Given the description of an element on the screen output the (x, y) to click on. 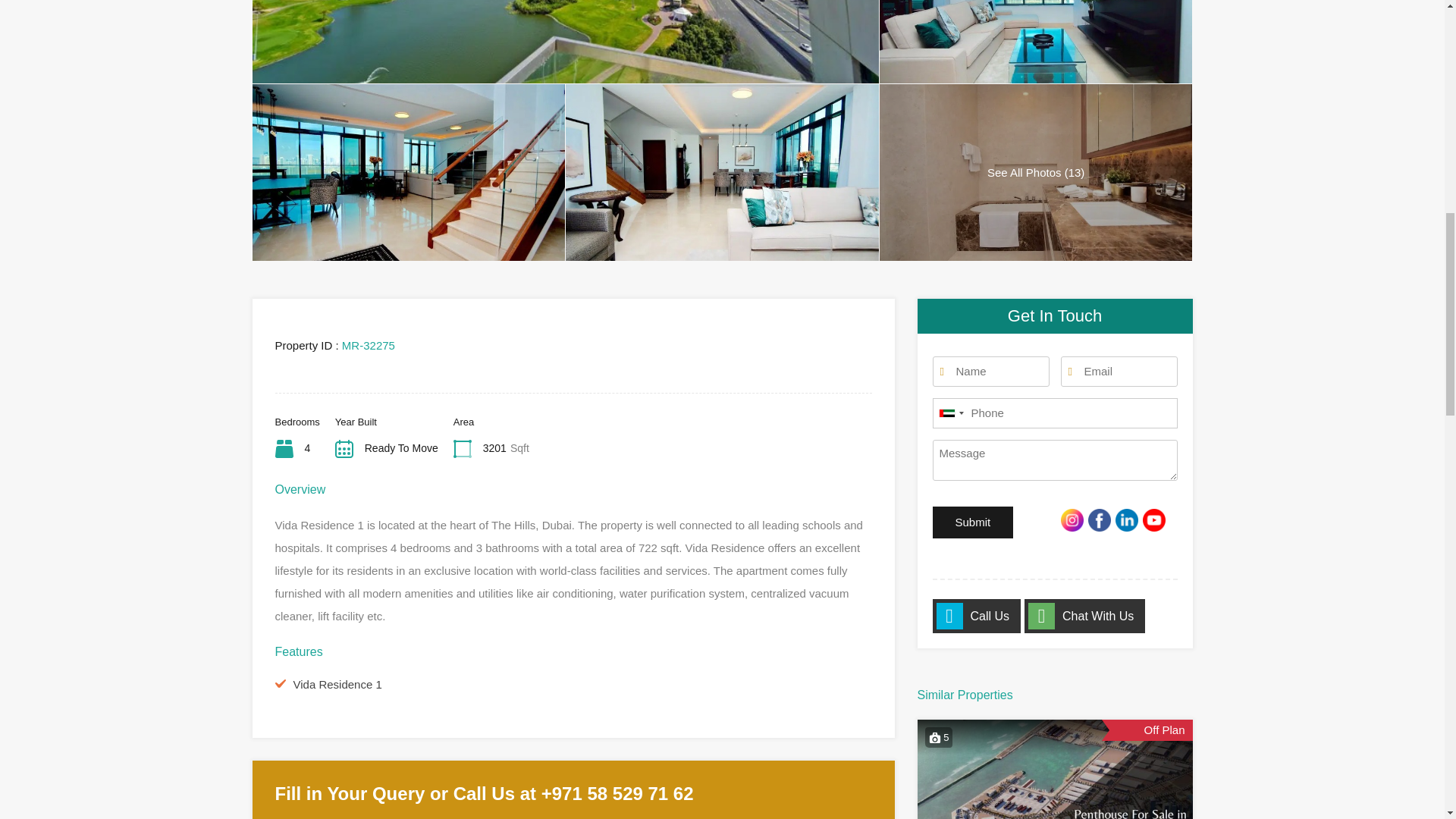
Submit (973, 522)
